Given the description of an element on the screen output the (x, y) to click on. 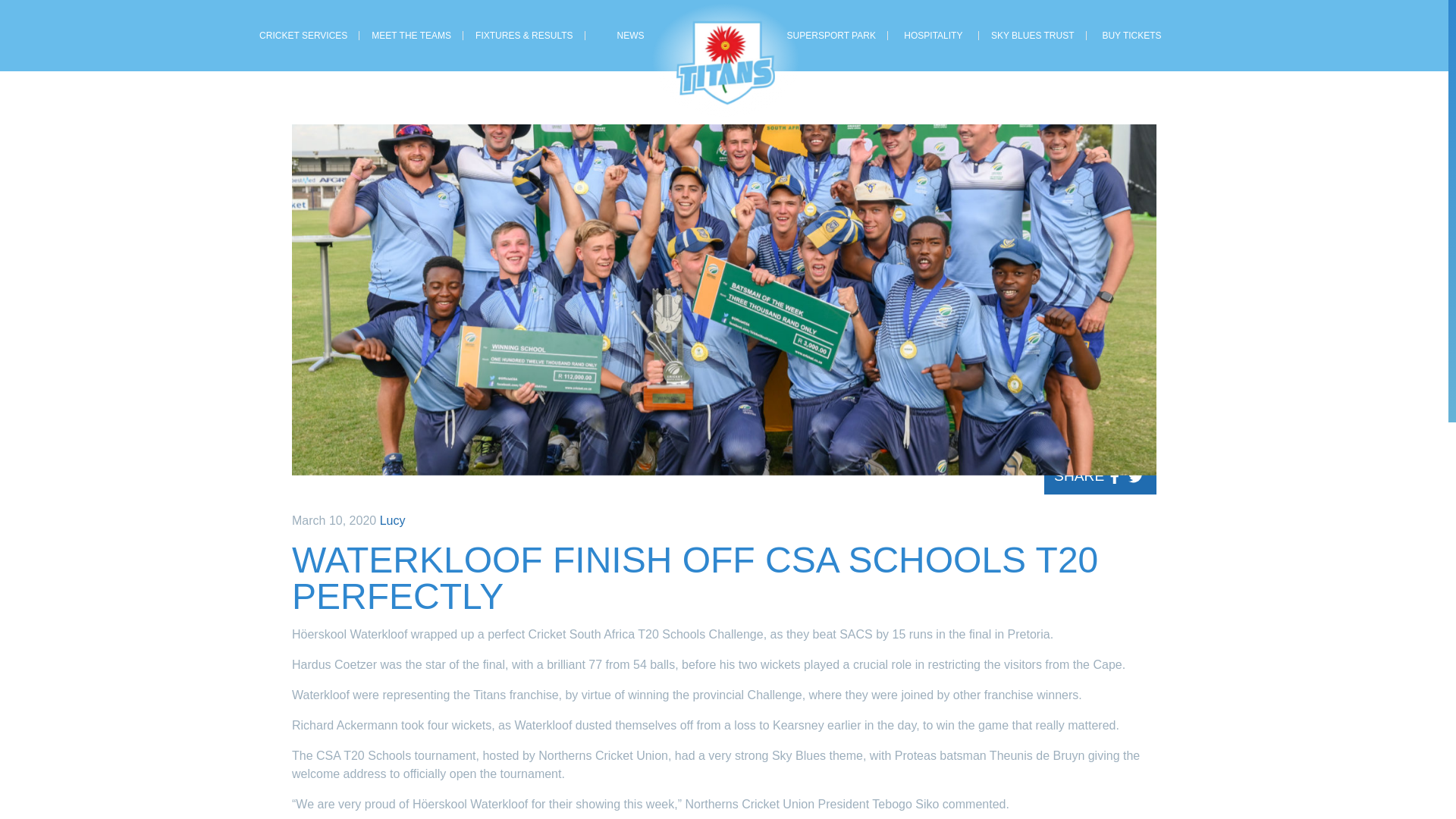
CRICKET SERVICES (303, 35)
BUY TICKETS (1131, 35)
Lucy (393, 520)
MEET THE TEAMS (411, 35)
SKY BLUES TRUST (1032, 35)
NEWS (630, 35)
HOSPITALITY (932, 35)
SUPERSPORT PARK (831, 35)
